Given the description of an element on the screen output the (x, y) to click on. 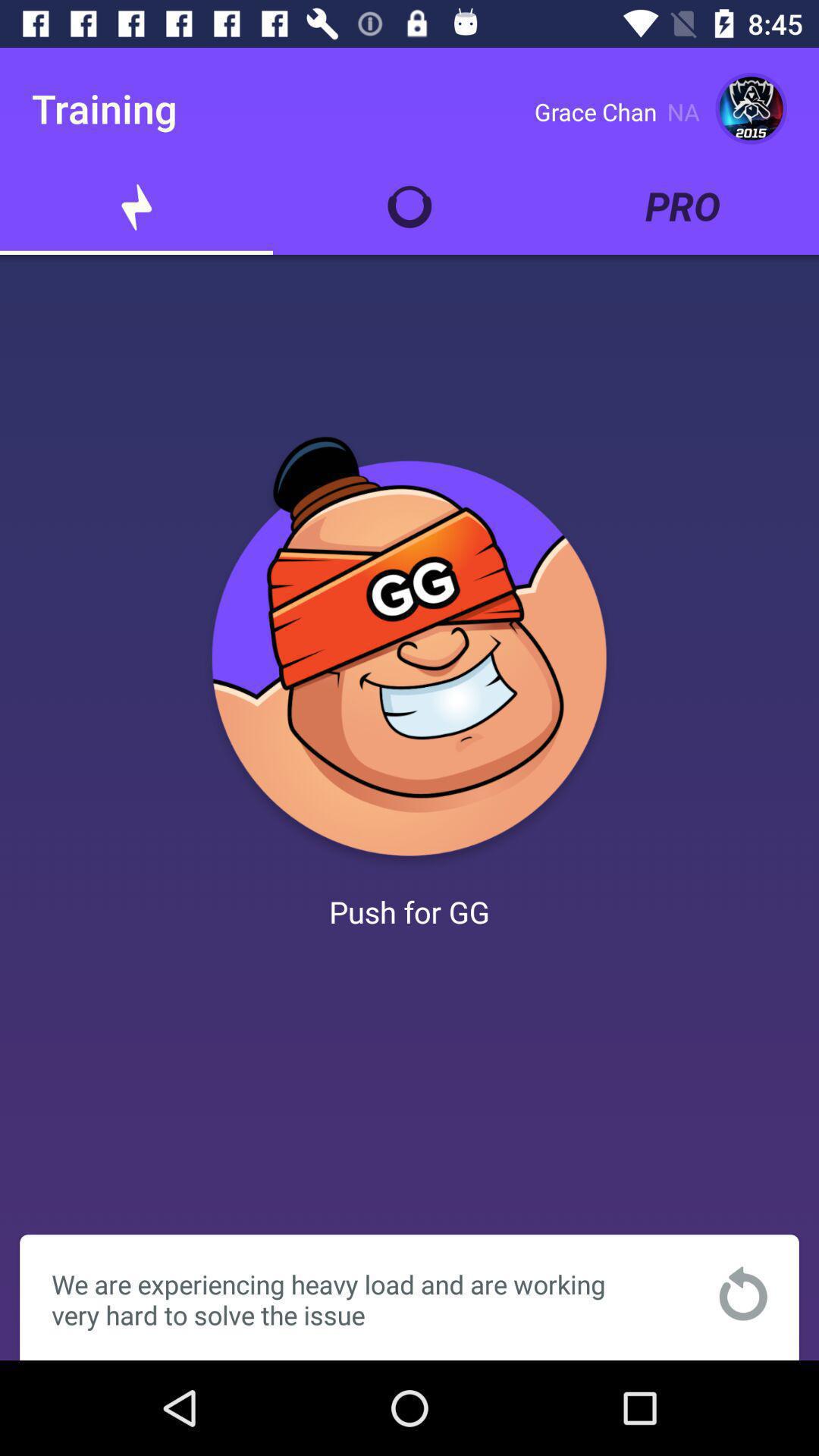
turn off the item to the right of the we are experiencing item (743, 1293)
